Given the description of an element on the screen output the (x, y) to click on. 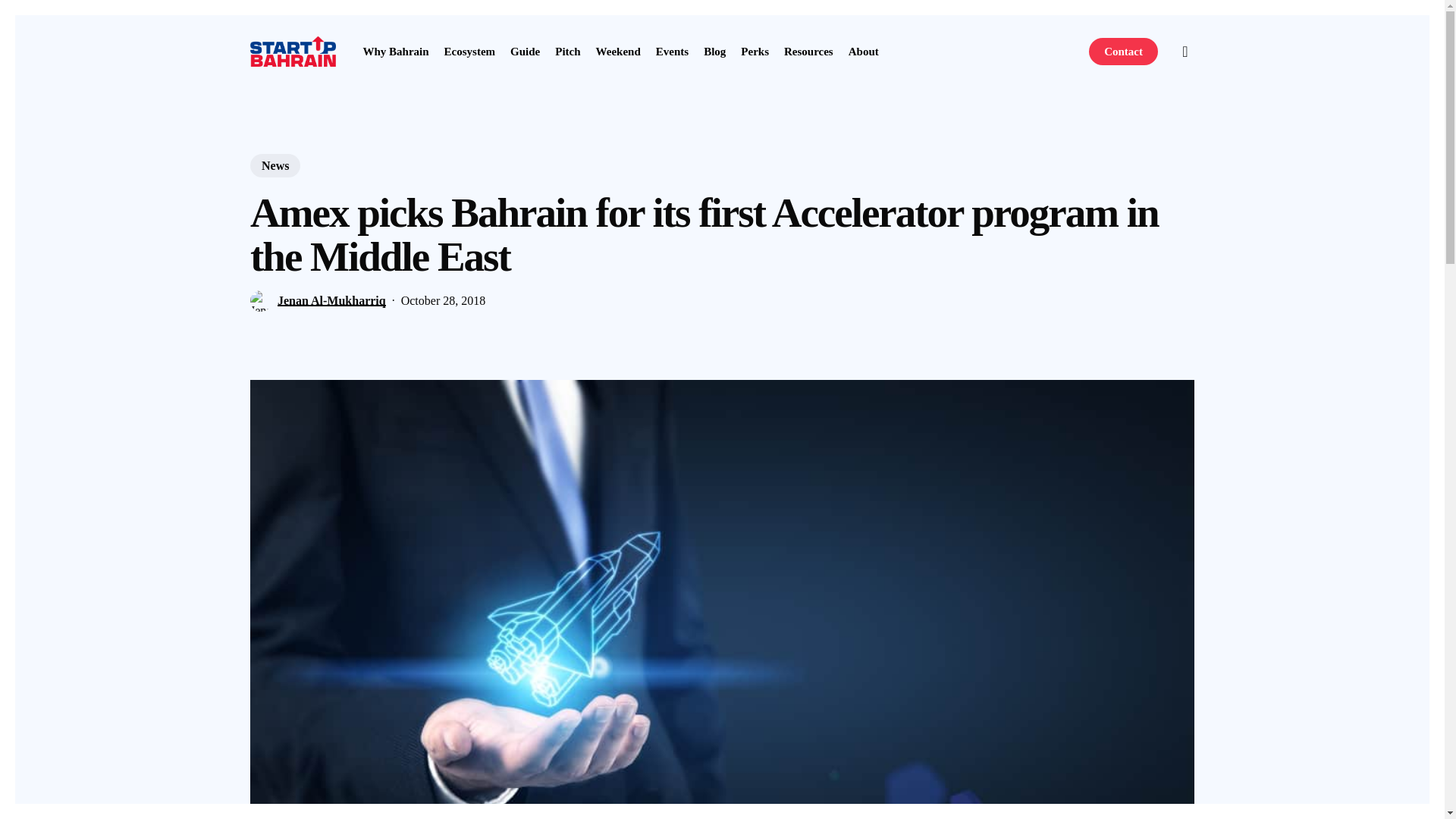
Perks (754, 50)
Why Bahrain (395, 50)
About (863, 50)
Weekend (617, 50)
News (274, 165)
Resources (808, 50)
Events (671, 50)
Guide (524, 50)
Ecosystem (469, 50)
Blog (714, 50)
